Given the description of an element on the screen output the (x, y) to click on. 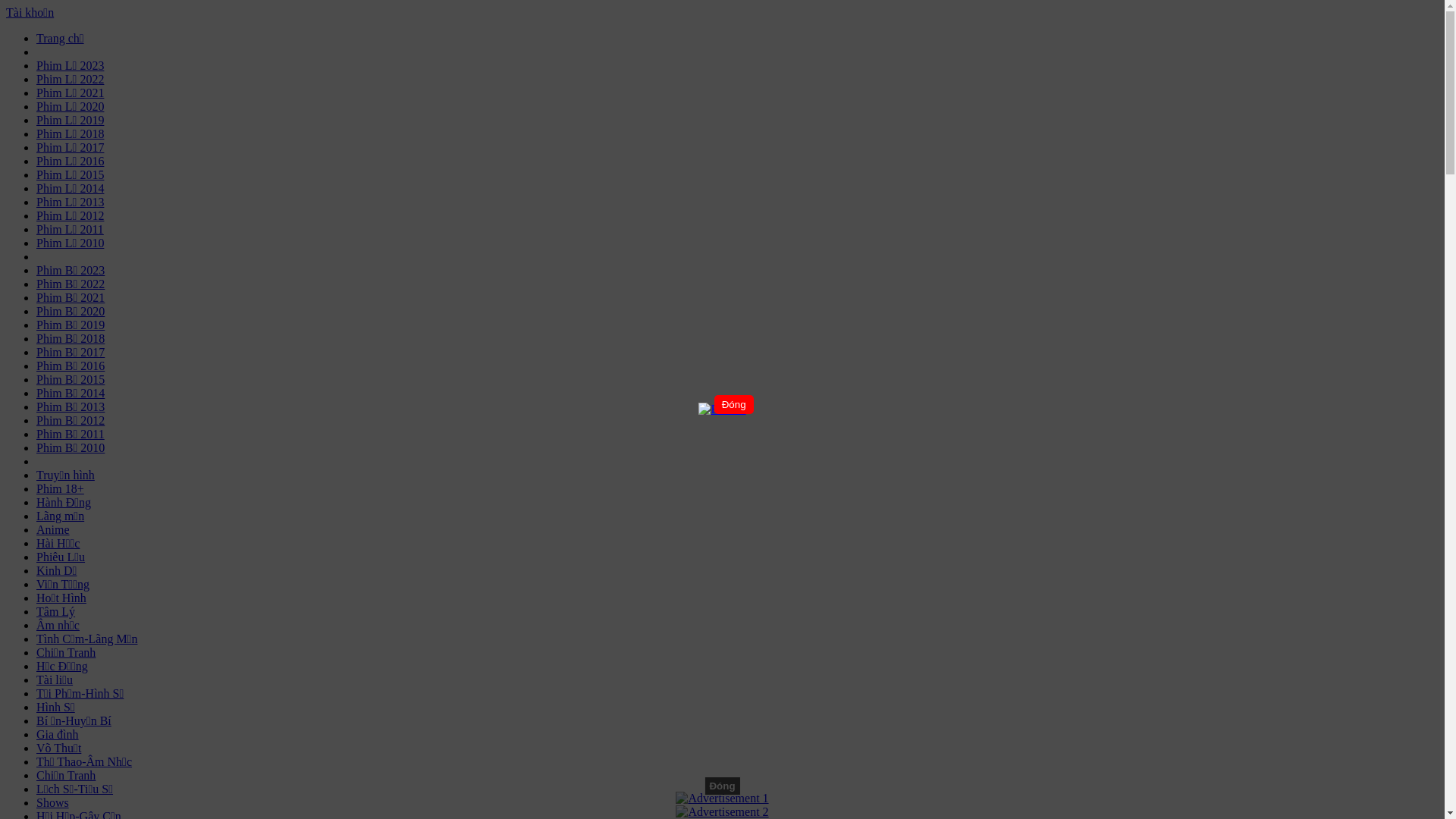
Shows Element type: text (52, 802)
Anime Element type: text (52, 529)
Phim 18+ Element type: text (60, 488)
